Given the description of an element on the screen output the (x, y) to click on. 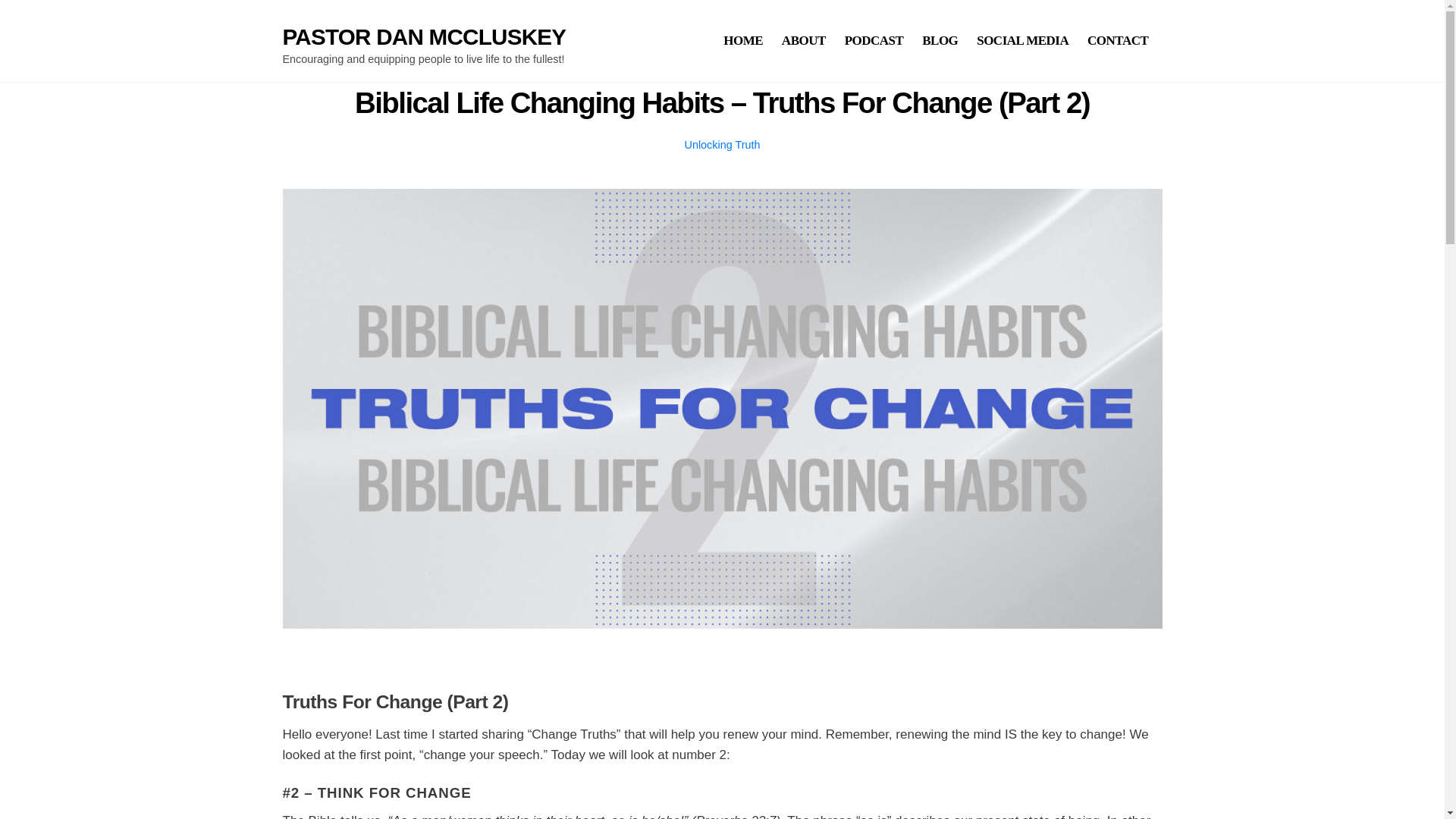
PASTOR DAN MCCLUSKEY (424, 36)
Pastor Dan McCluskey (424, 36)
CONTACT (870, 40)
ABOUT (1118, 40)
Unlocking Truth (803, 40)
BLOG (722, 144)
SOCIAL MEDIA (940, 40)
HOME (1022, 40)
PODCAST (743, 40)
